Given the description of an element on the screen output the (x, y) to click on. 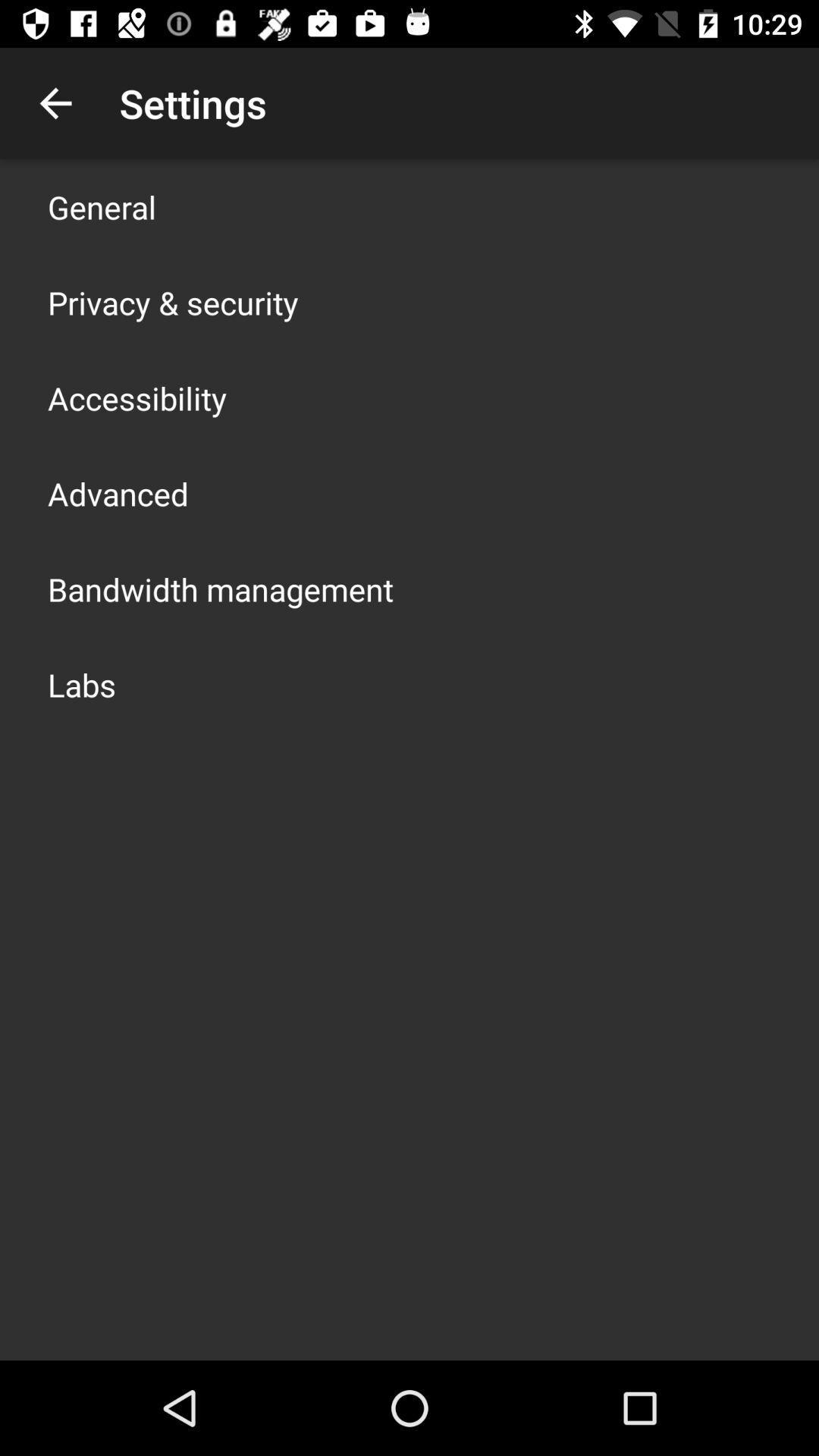
turn off icon below the bandwidth management item (81, 684)
